Given the description of an element on the screen output the (x, y) to click on. 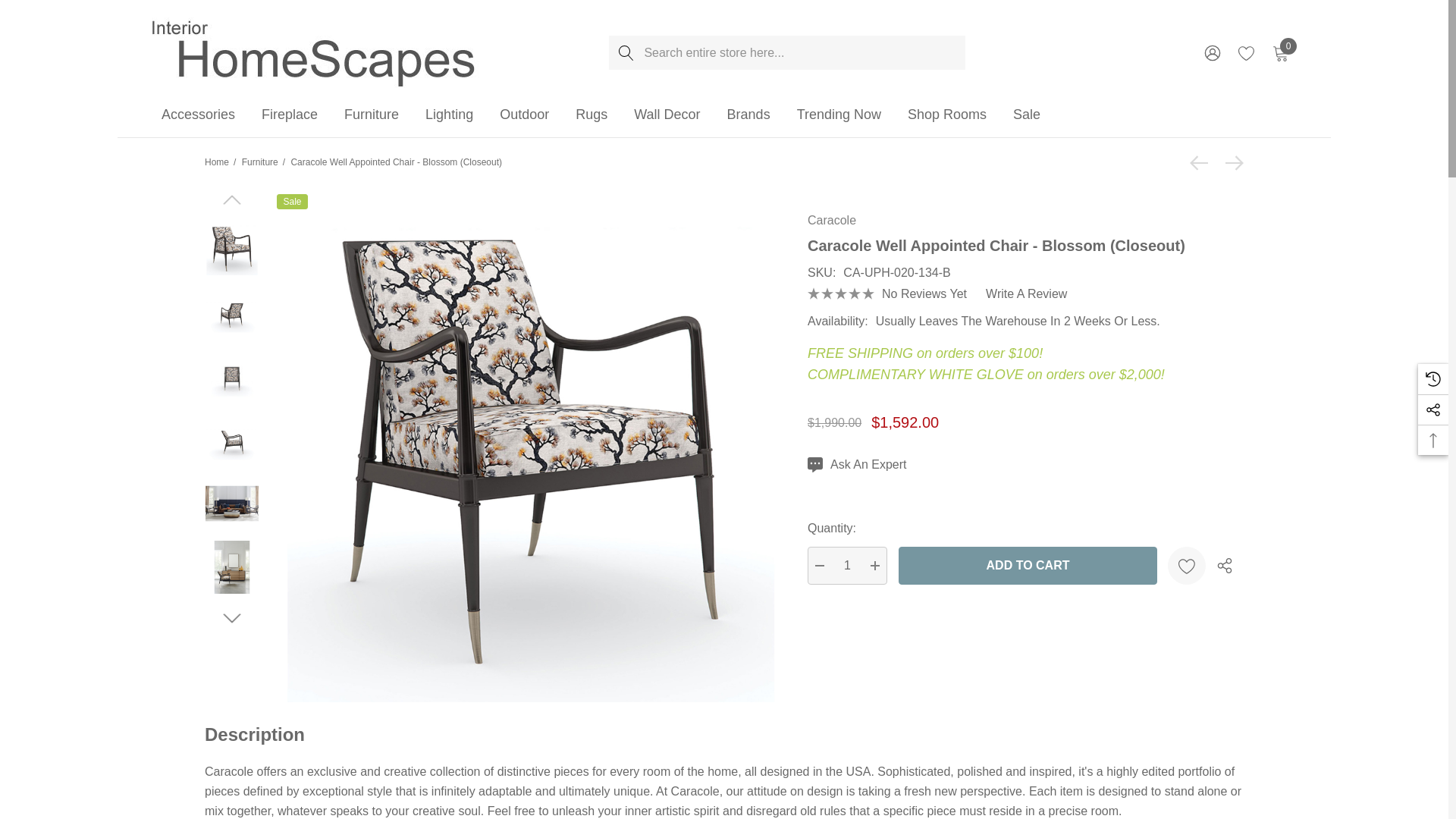
Interior HomeScapes (315, 52)
1 (847, 565)
Caracole Well Appointed Chair - Blossom (232, 248)
Accessories (197, 115)
Add to Cart (1027, 565)
